Given the description of an element on the screen output the (x, y) to click on. 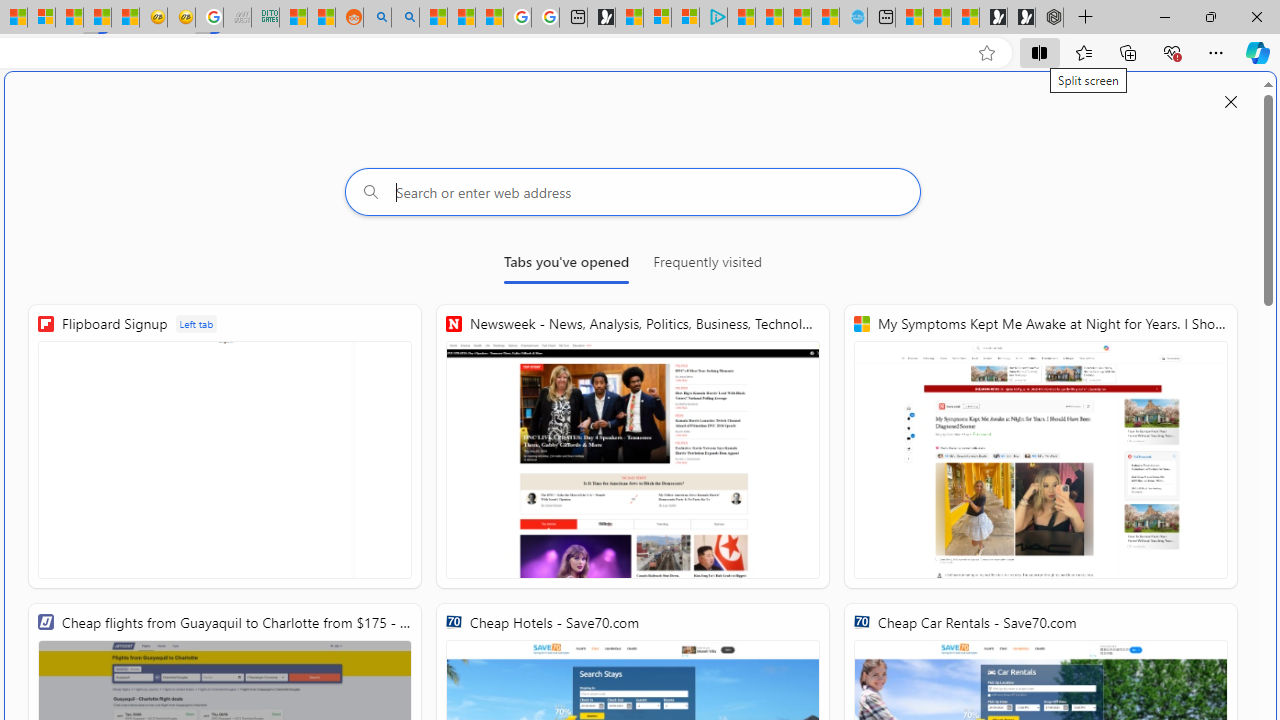
Home | Sky Blue Bikes - Sky Blue Bikes (852, 17)
Frequently visited (707, 265)
Utah sues federal government - Search (404, 17)
Nordace - Nordace Siena Is Not An Ordinary Backpack (1049, 17)
Flipboard Signup (225, 446)
Newsweek - News, Analysis, Politics, Business, Technology (632, 446)
